Given the description of an element on the screen output the (x, y) to click on. 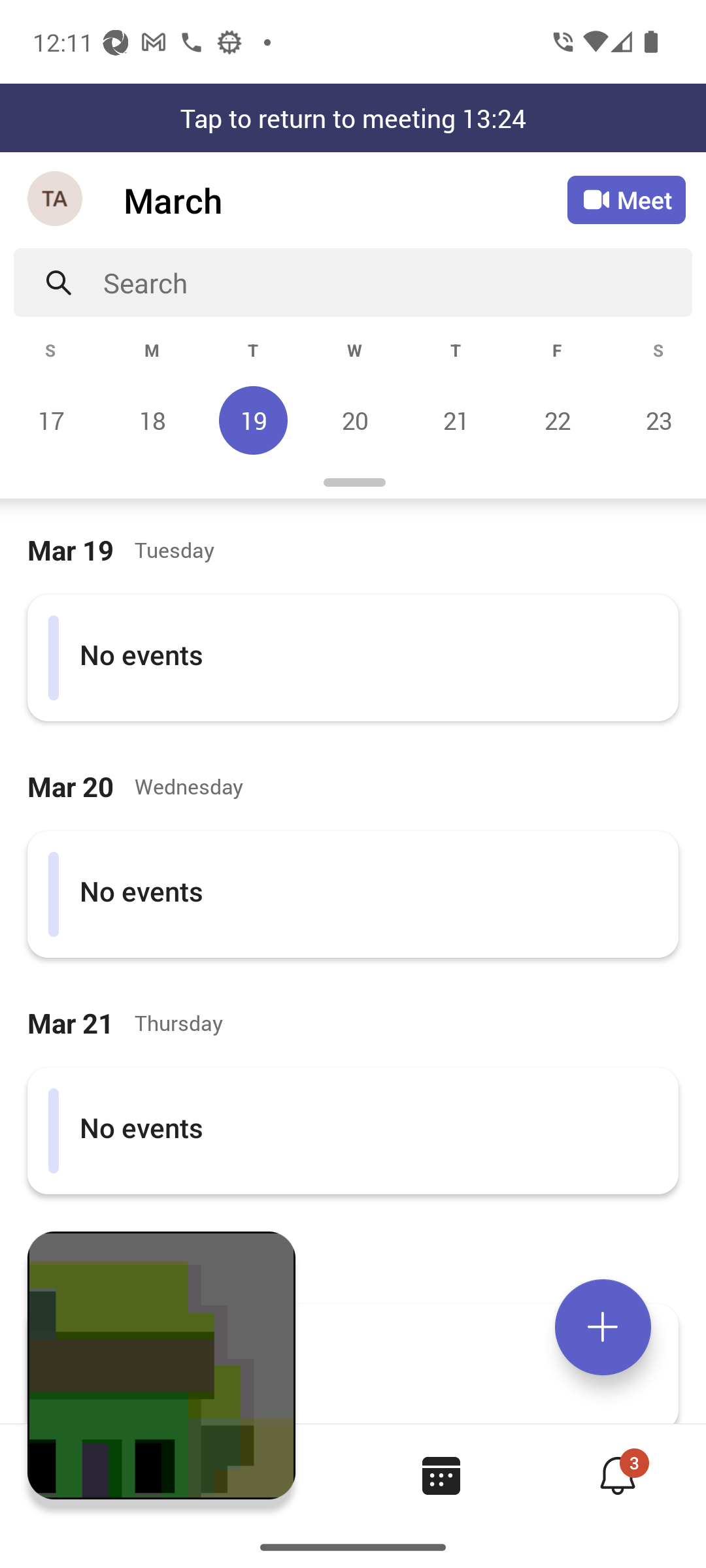
Tap to return to meeting 13:24 (353, 117)
Navigation (56, 199)
Meet Meet now or join with an ID (626, 199)
March March Calendar Agenda View (345, 199)
Search (397, 281)
Sunday, March 17 17 (50, 420)
Monday, March 18 18 (151, 420)
Tuesday, March 19, Selected 19 (253, 420)
Wednesday, March 20 20 (354, 420)
Thursday, March 21 21 (455, 420)
Friday, March 22 22 (556, 420)
Saturday, March 23 23 (656, 420)
Expand meetings menu (602, 1327)
Calendar tab, 3 of 4 (441, 1475)
Activity tab,4 of 4, not selected, 3 new 3 (617, 1475)
